Given the description of an element on the screen output the (x, y) to click on. 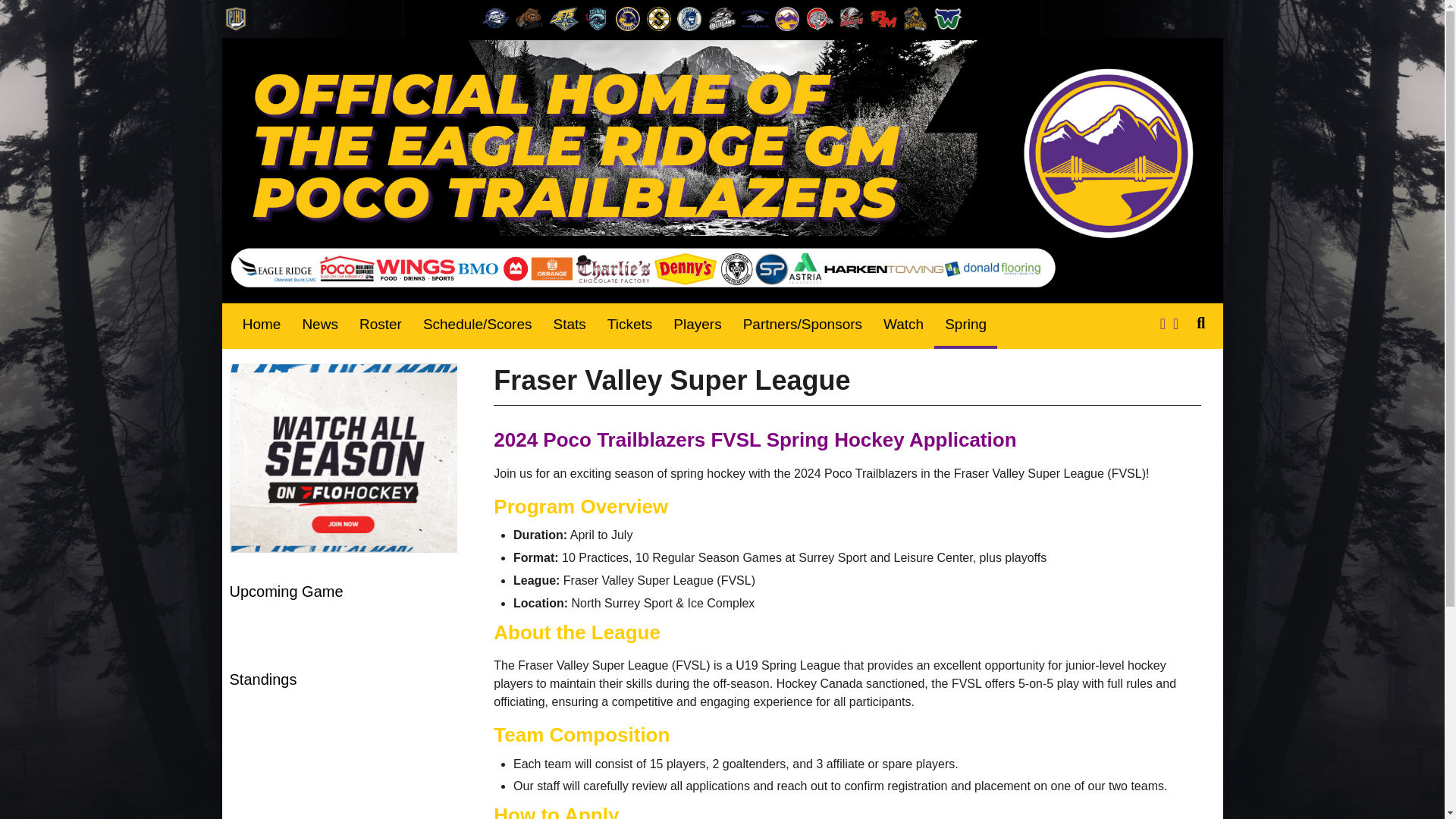
Aldergrove Kodiaks (528, 18)
North Van Wolf Pack (754, 18)
Delta Ice Hawks (628, 18)
Chilliwack Jets (563, 18)
Grandview Steelers (658, 18)
Langley Trappers (689, 18)
Ridge Meadows Flames (882, 18)
Coastal Tsunami (597, 18)
Mission City Outlaws (721, 18)
Port Coquitlam Trailblazers (786, 18)
Pacific Junior Hockey League (234, 18)
Abbotsford Pilots (495, 18)
Port Moody Panthers (819, 18)
Richmond Sockeyes (851, 18)
